Given the description of an element on the screen output the (x, y) to click on. 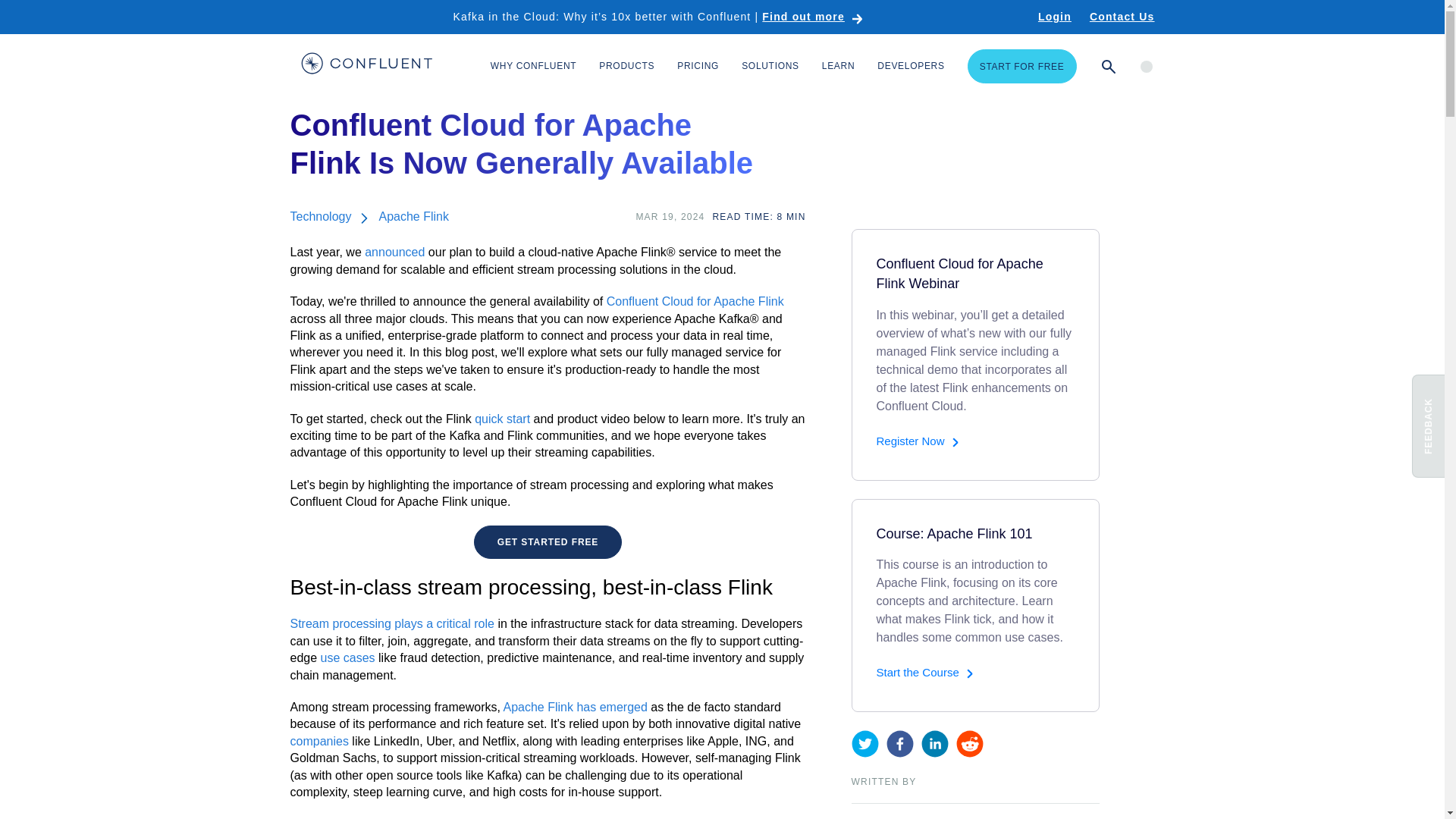
Contact Us (1121, 16)
Confluent (365, 65)
Login (1054, 16)
Find out more (812, 16)
